Given the description of an element on the screen output the (x, y) to click on. 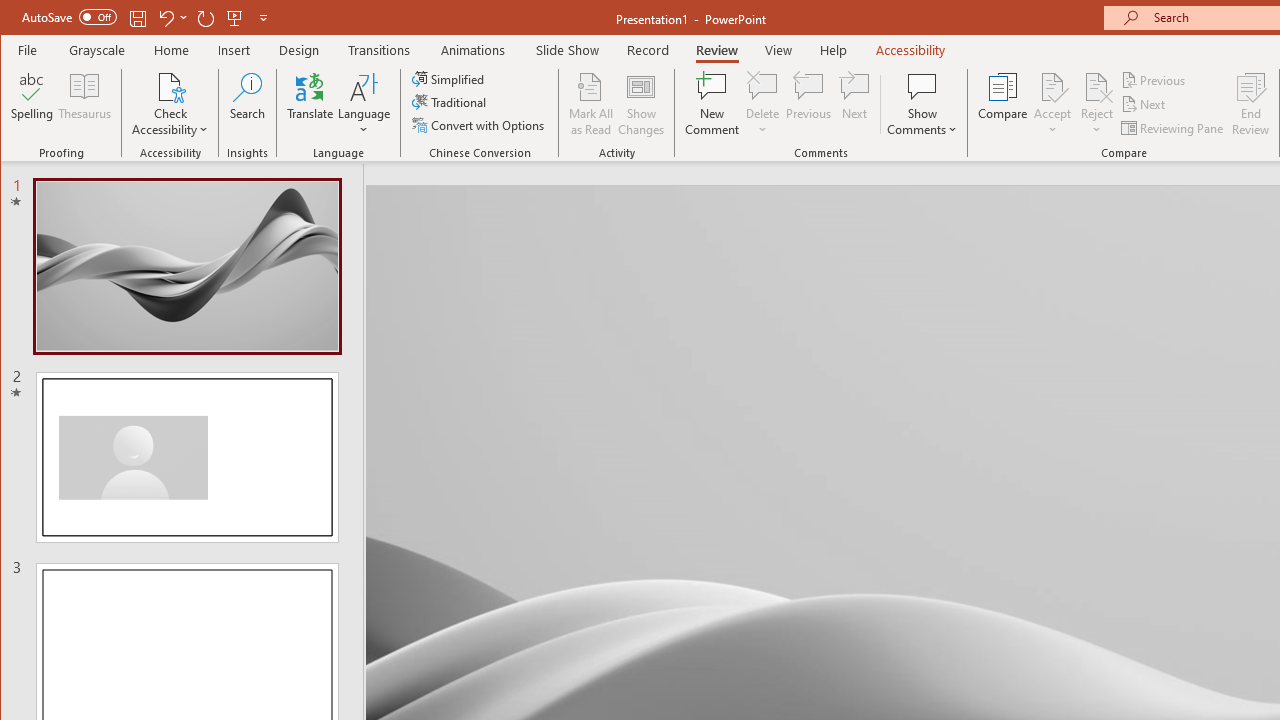
Previous (1154, 80)
Convert with Options... (479, 124)
Thesaurus... (84, 104)
